Given the description of an element on the screen output the (x, y) to click on. 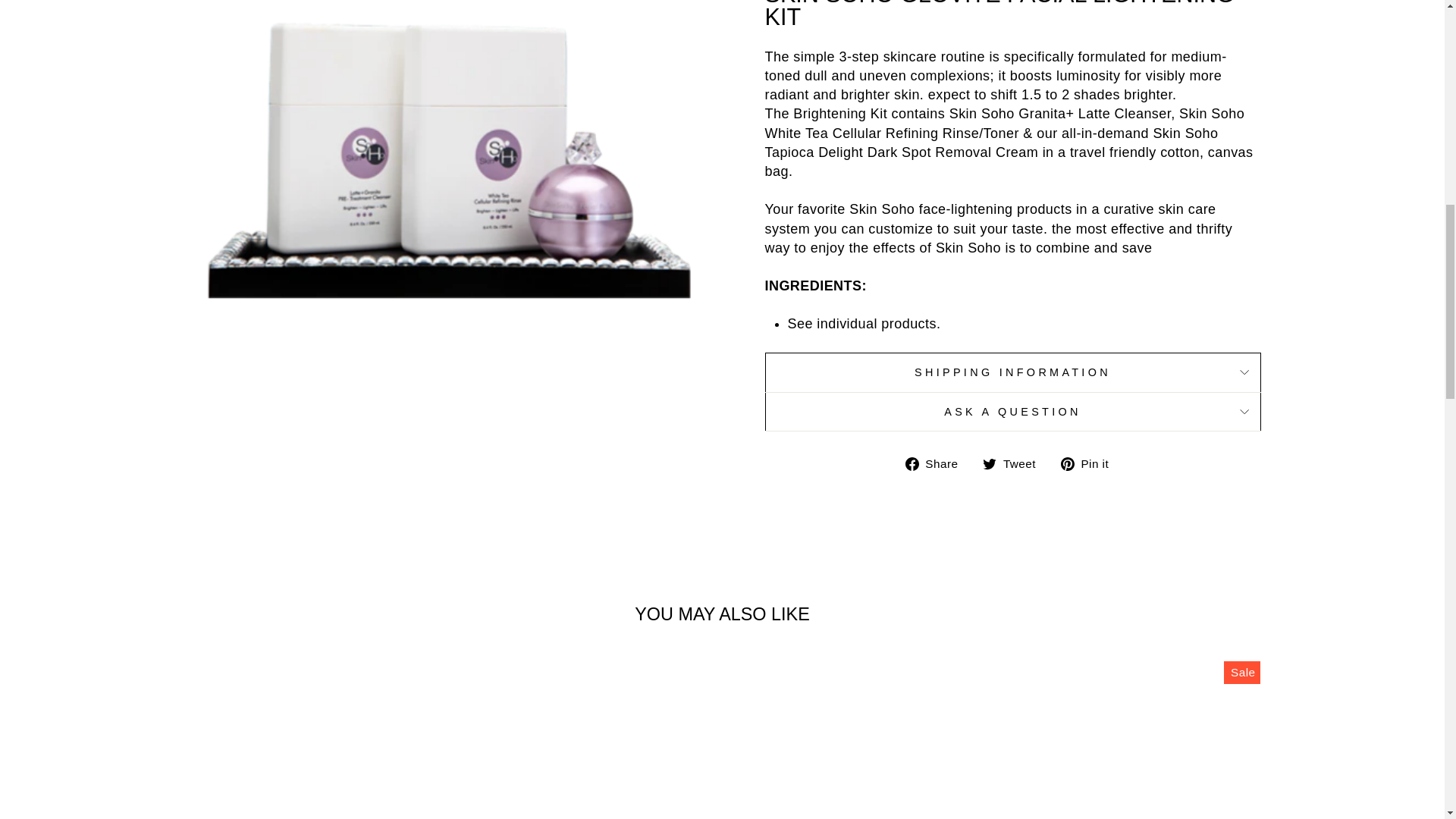
Share on Facebook (937, 463)
twitter (988, 463)
Pin on Pinterest (1090, 463)
Tweet on Twitter (1014, 463)
